Given the description of an element on the screen output the (x, y) to click on. 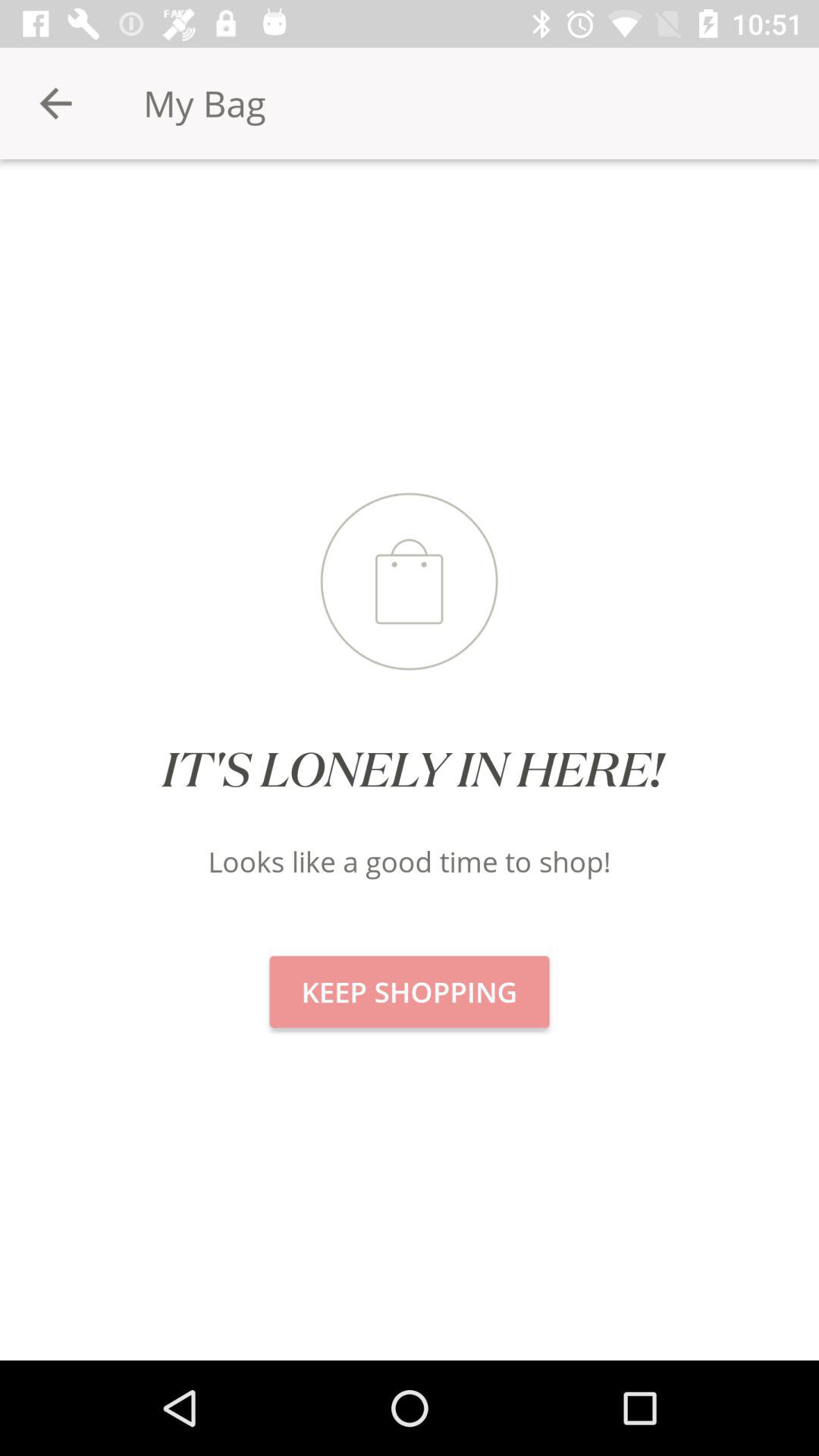
click item above it s lonely (55, 103)
